Given the description of an element on the screen output the (x, y) to click on. 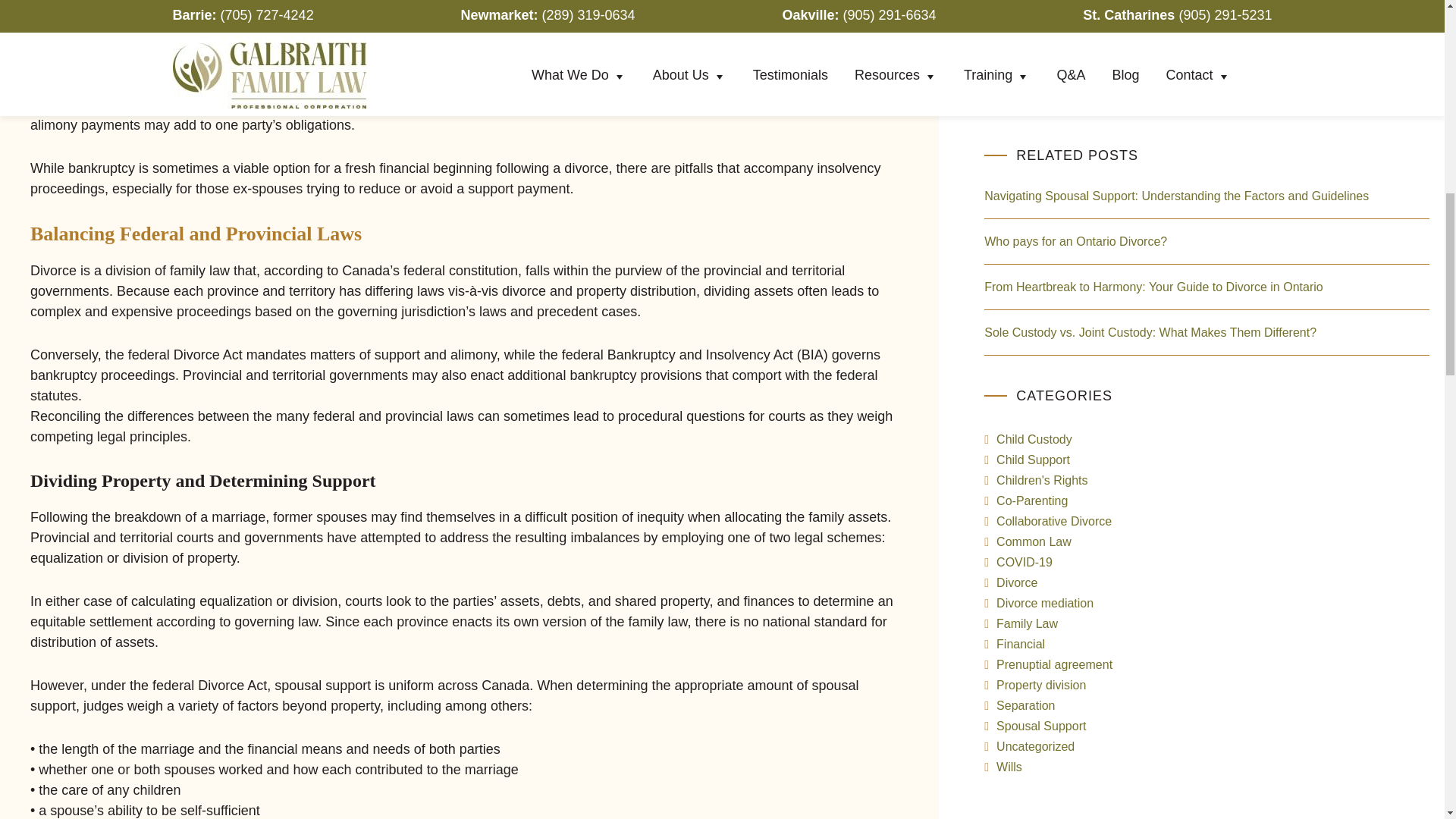
From Heartbreak to Harmony: Your Guide to Divorce in Ontario (1153, 286)
Who pays for an Ontario Divorce? (1075, 241)
Sole Custody vs. Joint Custody: What Makes Them Different? (1150, 332)
Submit Request (1070, 77)
